Given the description of an element on the screen output the (x, y) to click on. 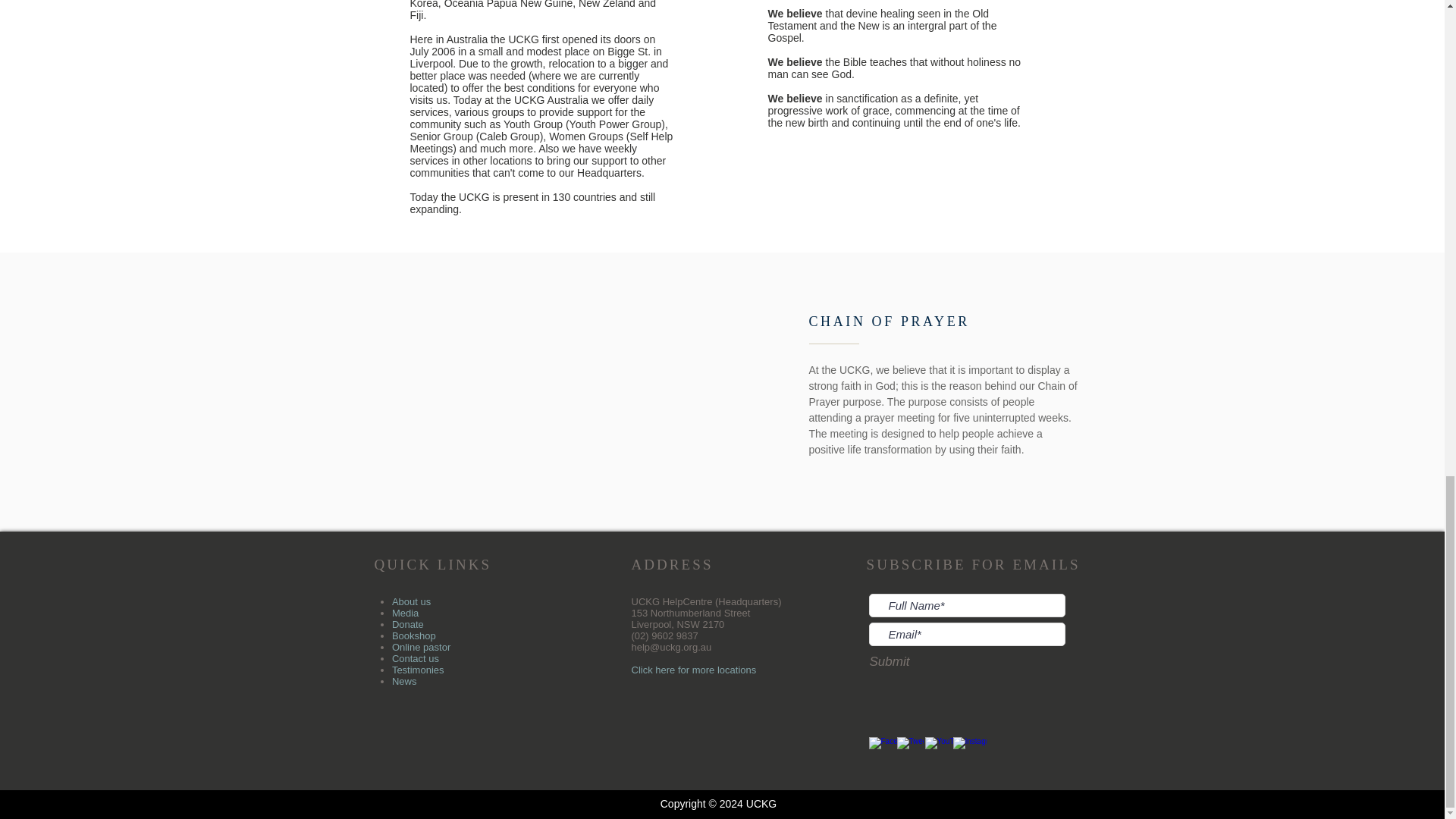
Bookshop (413, 635)
Media (405, 613)
News (403, 681)
Contact us (415, 658)
Click here for more locations (692, 669)
Submit (890, 661)
External YouTube (559, 391)
About us (410, 601)
Online pastor (420, 646)
Donate (407, 624)
